Given the description of an element on the screen output the (x, y) to click on. 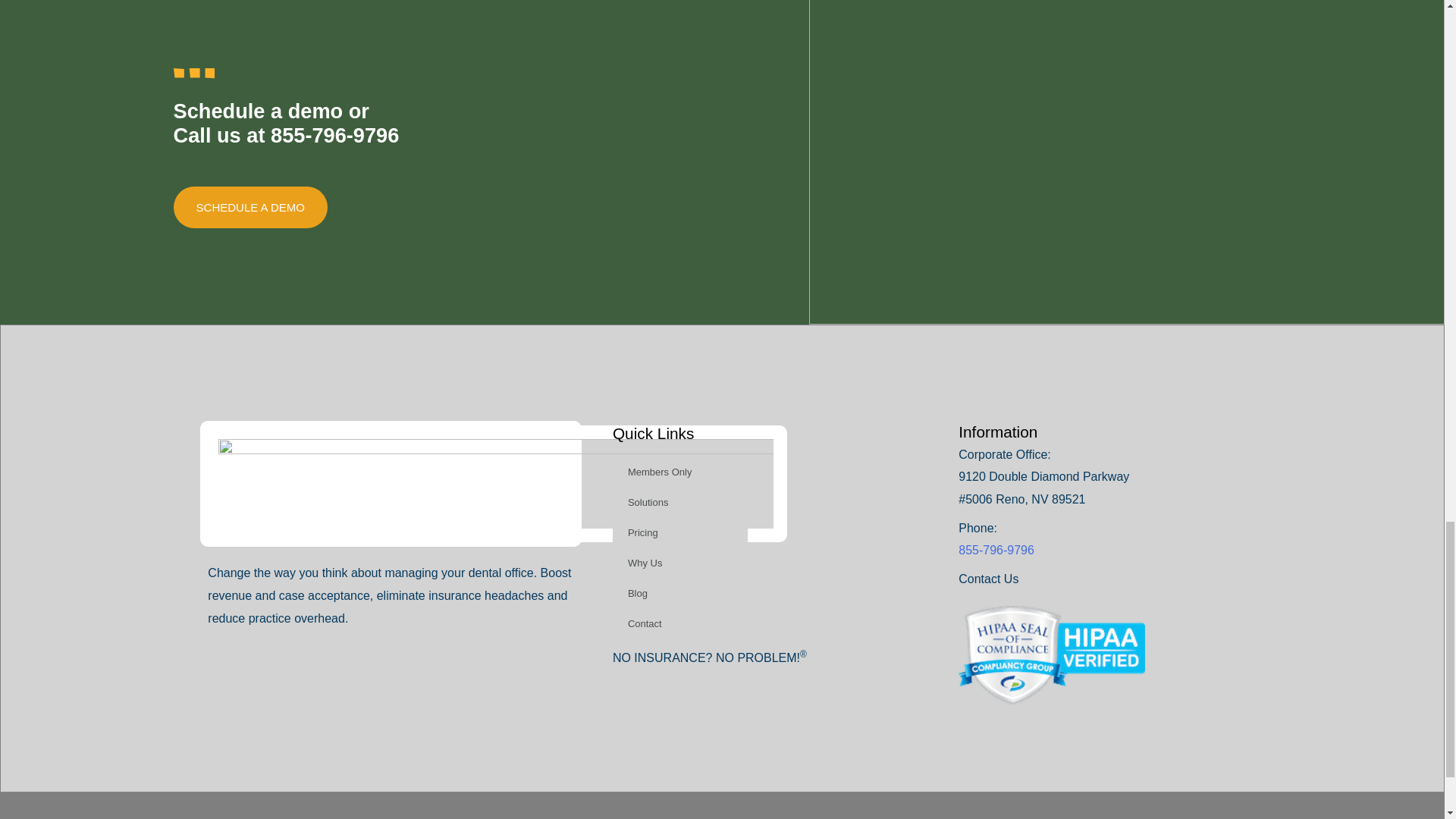
855-796-9796 (334, 135)
Members Only (680, 472)
Why Us (680, 562)
SCHEDULE A DEMO (250, 207)
Solutions (680, 502)
Pricing (680, 532)
